Given the description of an element on the screen output the (x, y) to click on. 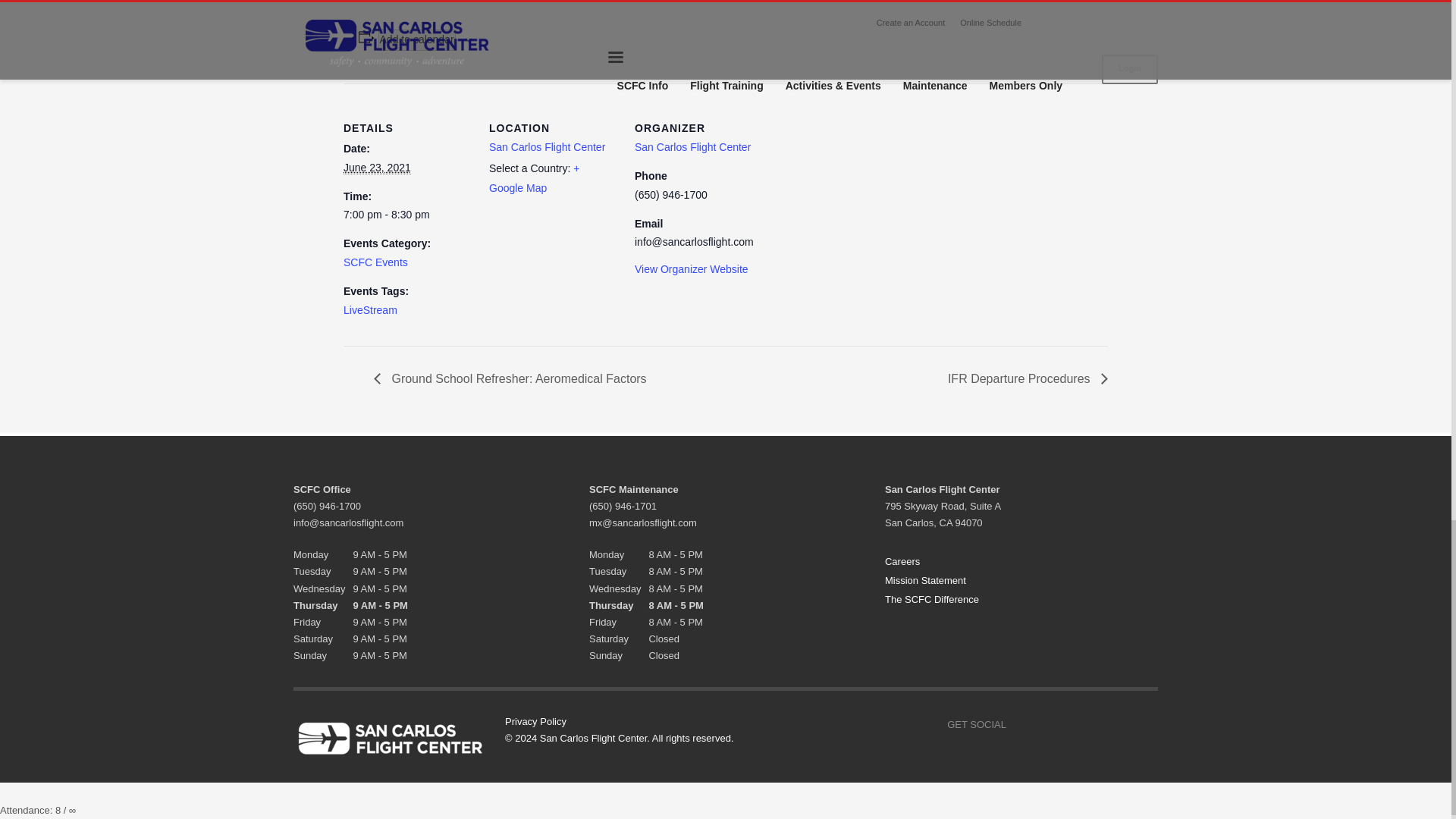
Email (1146, 724)
Twitter (1085, 724)
Facebook (1024, 724)
Click to view a Google Map (534, 178)
Instagram (1055, 724)
2021-06-23 (376, 167)
YouTube (1115, 724)
San Carlos Flight Center (692, 146)
2021-06-23 (406, 215)
